Given the description of an element on the screen output the (x, y) to click on. 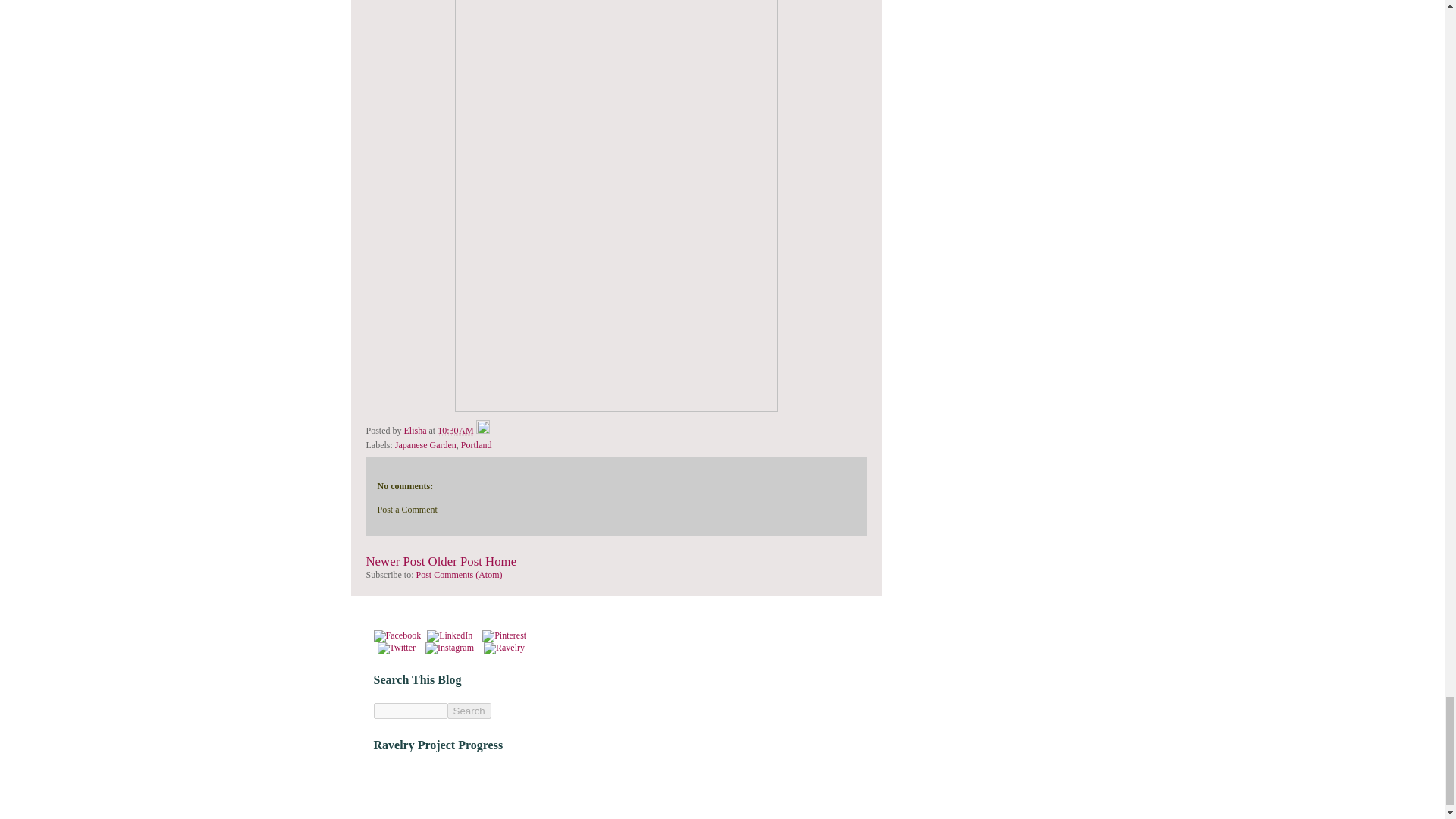
Japanese Garden (425, 444)
search (469, 710)
Ravelry (503, 648)
Newer Post (395, 561)
Pinterest (503, 635)
Newer Post (395, 561)
LinkedIn (448, 635)
Edit Post (482, 430)
Elisha (416, 430)
